Given the description of an element on the screen output the (x, y) to click on. 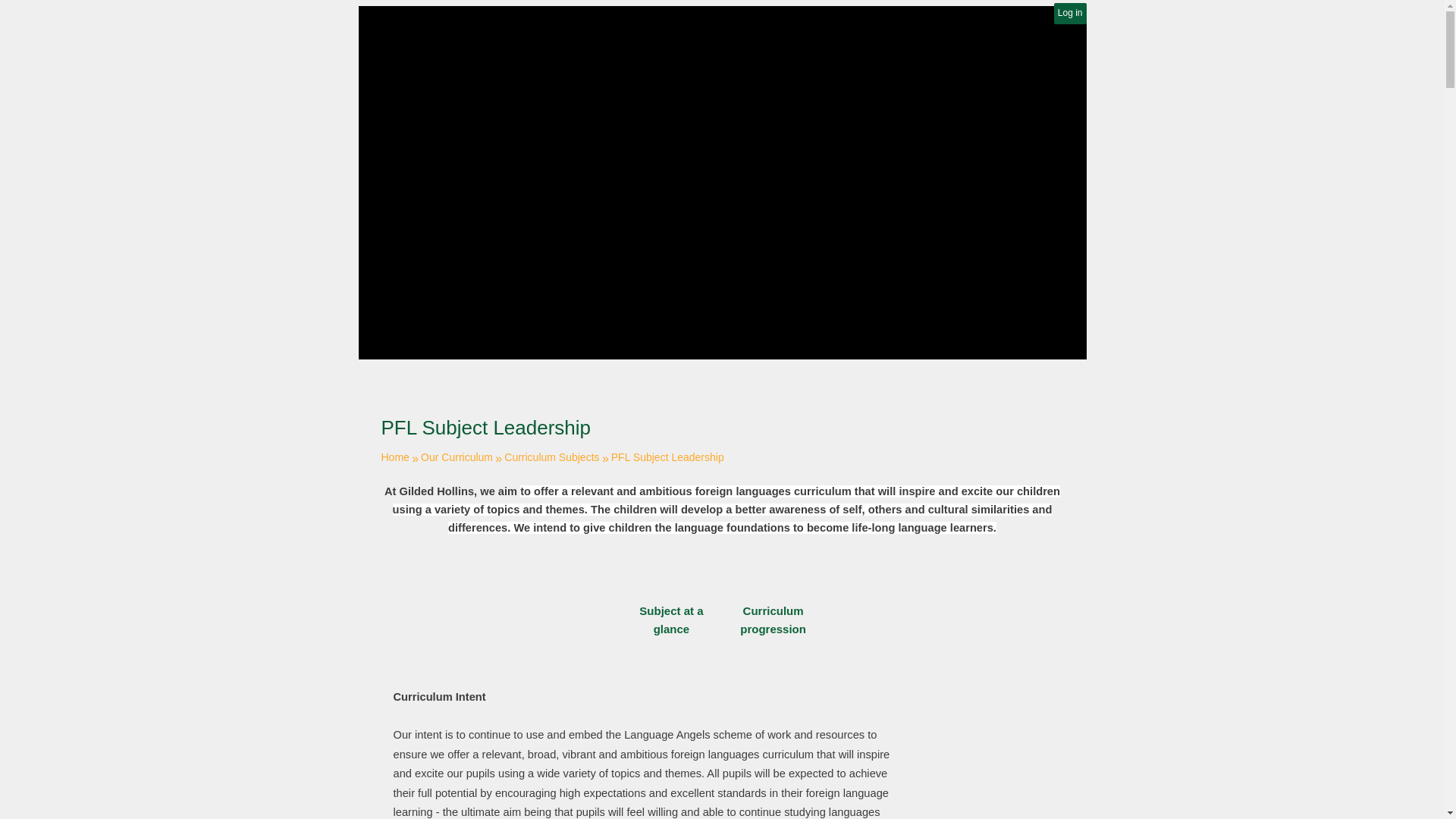
Subject at a glance (670, 595)
Curriculum progression (773, 595)
Home (394, 457)
About Us (406, 335)
Log in (1070, 13)
Curriculum Subjects (550, 457)
PFL Subject Leadership (667, 457)
Home Page (539, 49)
Statutory Information (485, 335)
Our Curriculum (456, 457)
Home Page (539, 49)
